Given the description of an element on the screen output the (x, y) to click on. 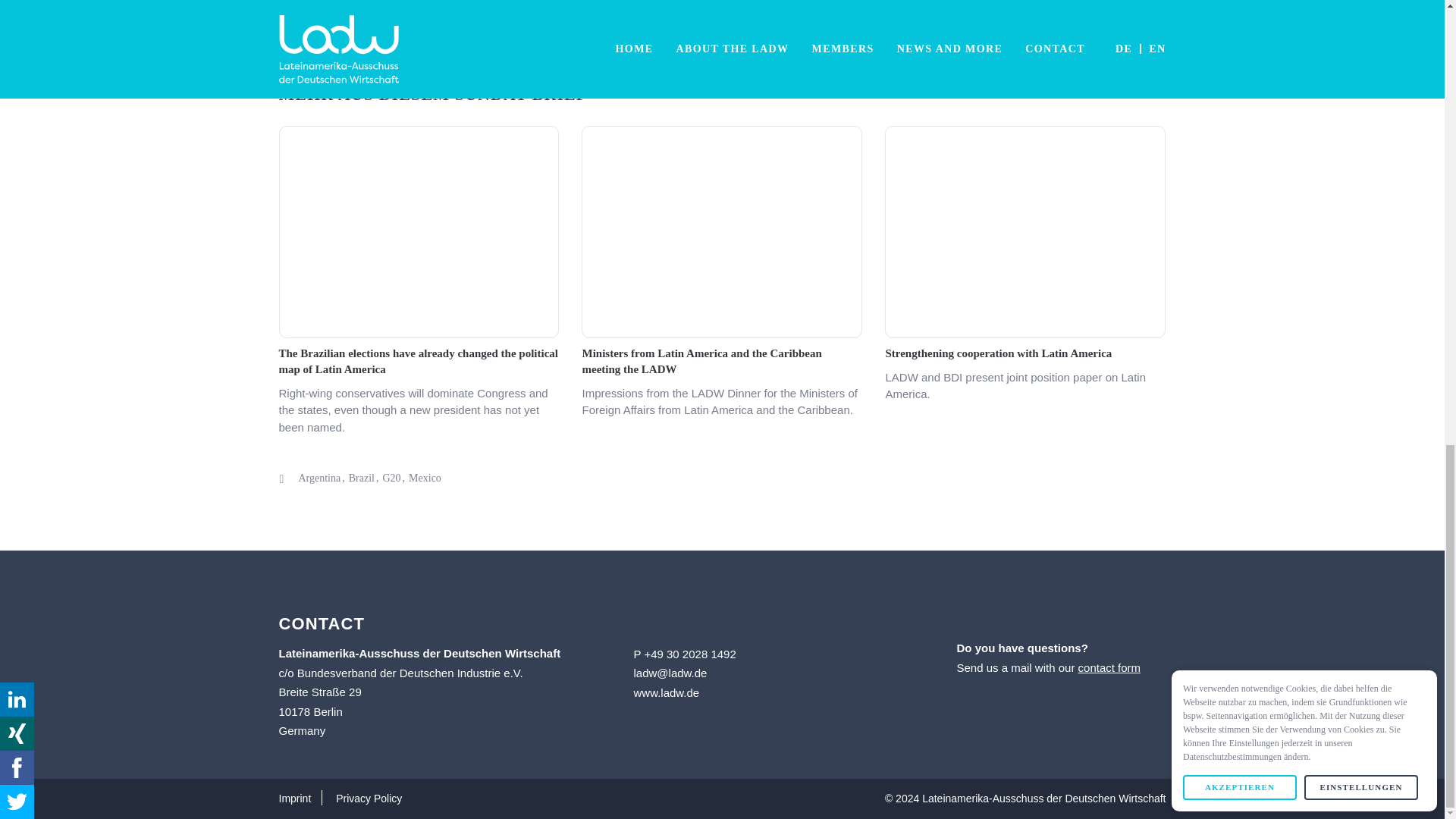
Opens the page Imprint (306, 798)
Go to page Contact (1109, 667)
Opens the page Privacy policy (368, 798)
Argentina (319, 478)
Imprint (306, 798)
G20 (390, 478)
Mexico (425, 478)
contact form (1109, 667)
